Given the description of an element on the screen output the (x, y) to click on. 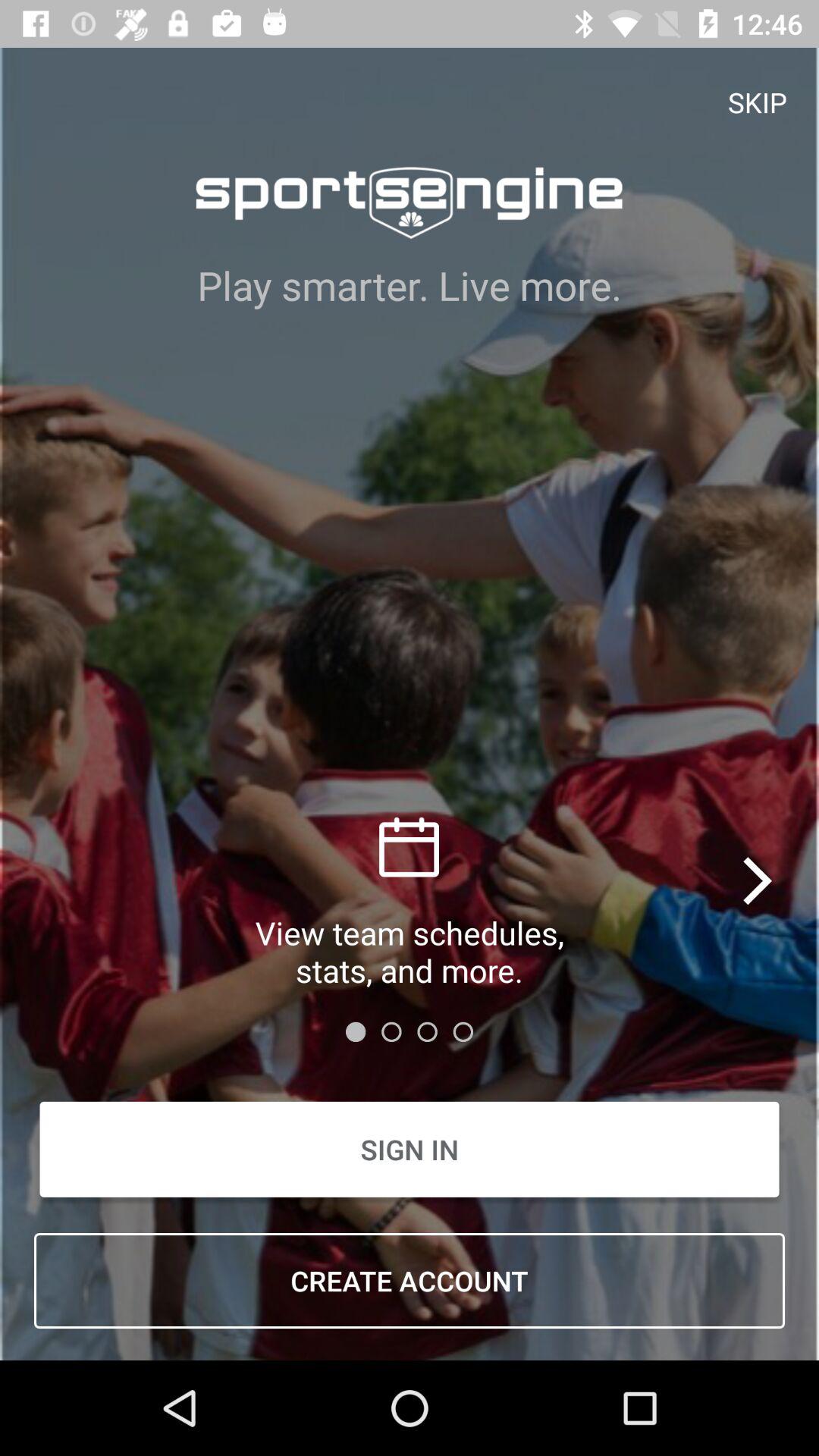
press the icon below play smarter live (759, 880)
